Given the description of an element on the screen output the (x, y) to click on. 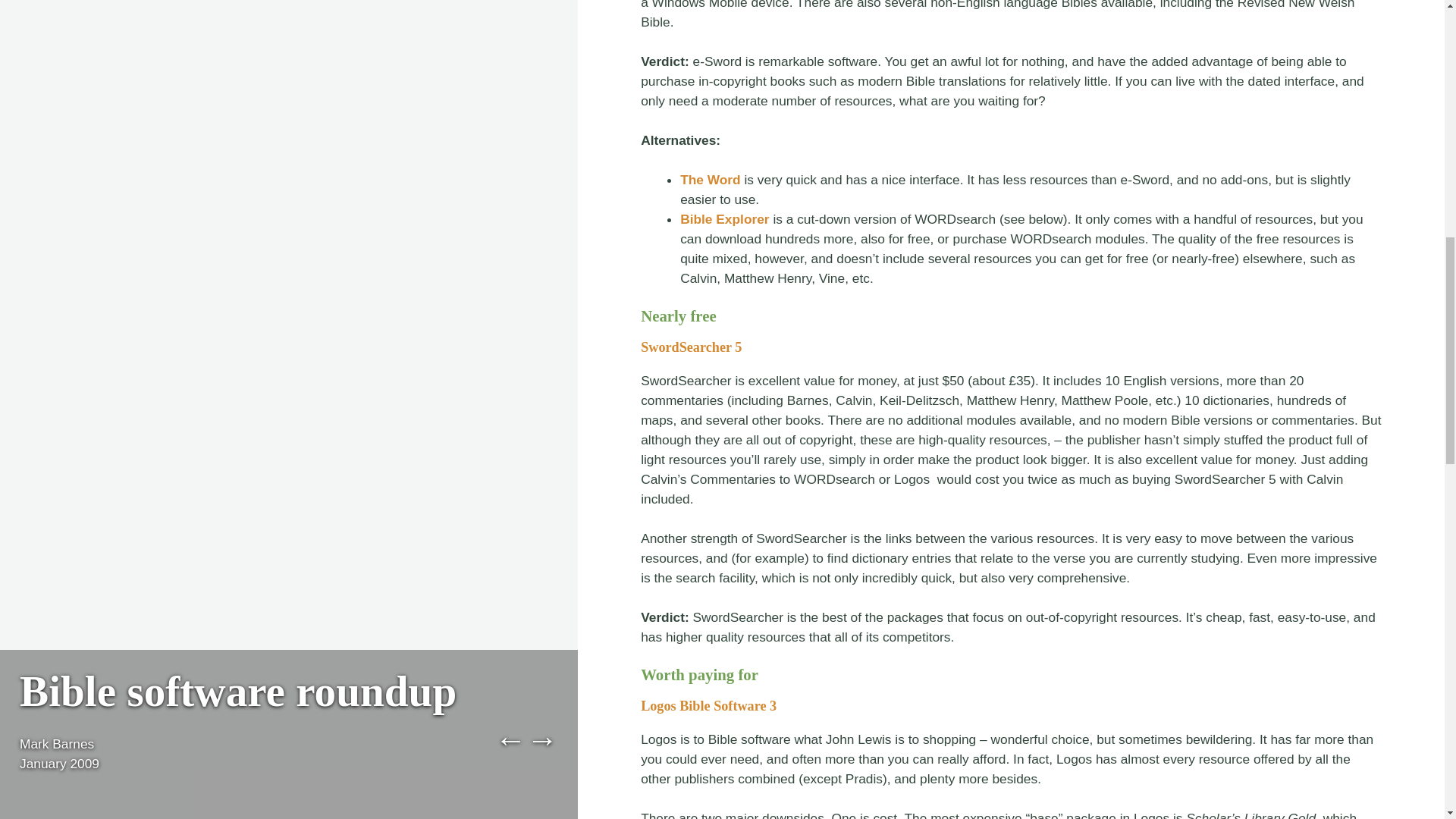
Bible Explorer (723, 218)
The Word (710, 179)
SwordSearcher 5 (690, 346)
Logos Bible Software 3 (708, 705)
